Given the description of an element on the screen output the (x, y) to click on. 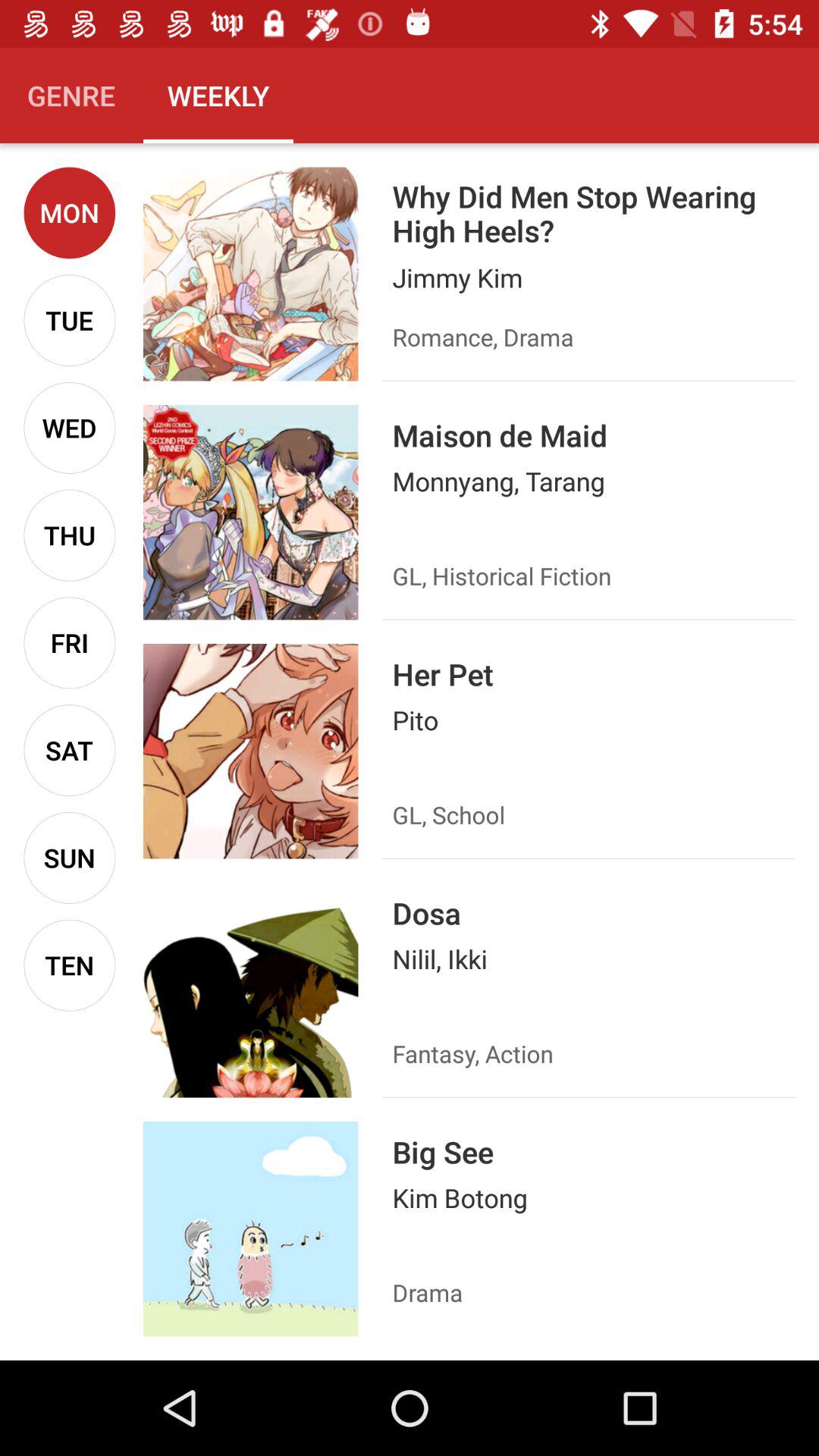
turn off the item below wed (69, 535)
